Given the description of an element on the screen output the (x, y) to click on. 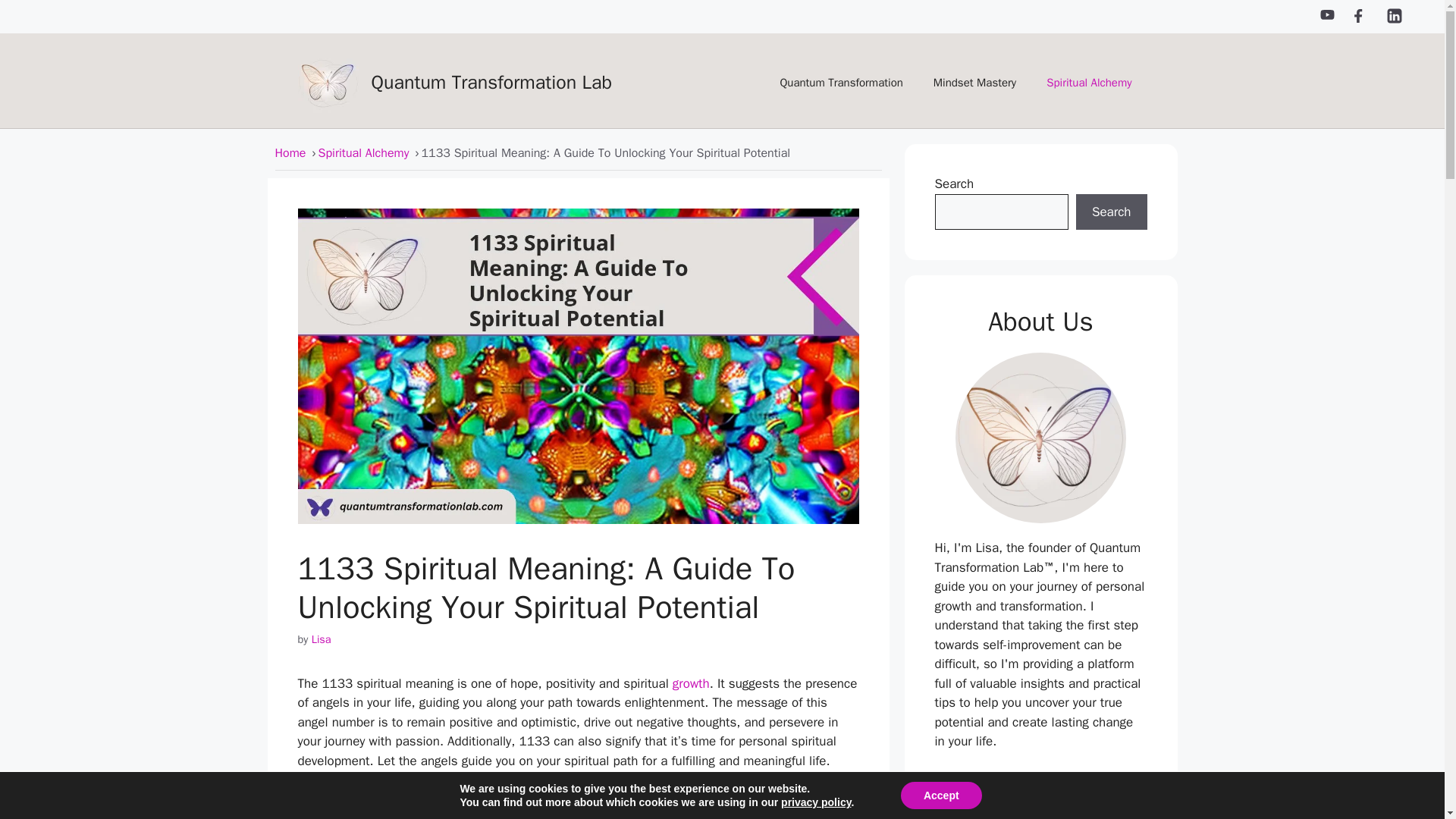
Spiritual Alchemy (363, 152)
Mindset Mastery (974, 82)
Quantum Transformation LabLinkedin (1394, 15)
Quantum Transformation Lab (491, 82)
Lisa (321, 639)
Quantum Transformation Lab YouTube (1327, 14)
Quantum Transformation (840, 82)
Home (290, 152)
Quantum Transformation Lab Facebook (1360, 15)
growth (691, 683)
View all posts by Lisa (321, 639)
Quantum Transformation Lab Facebook (1360, 14)
Quantum Transformation Lab YouTube (1327, 15)
Spiritual Alchemy (1088, 82)
Quantum Transformation LabLinkedin (1394, 20)
